Given the description of an element on the screen output the (x, y) to click on. 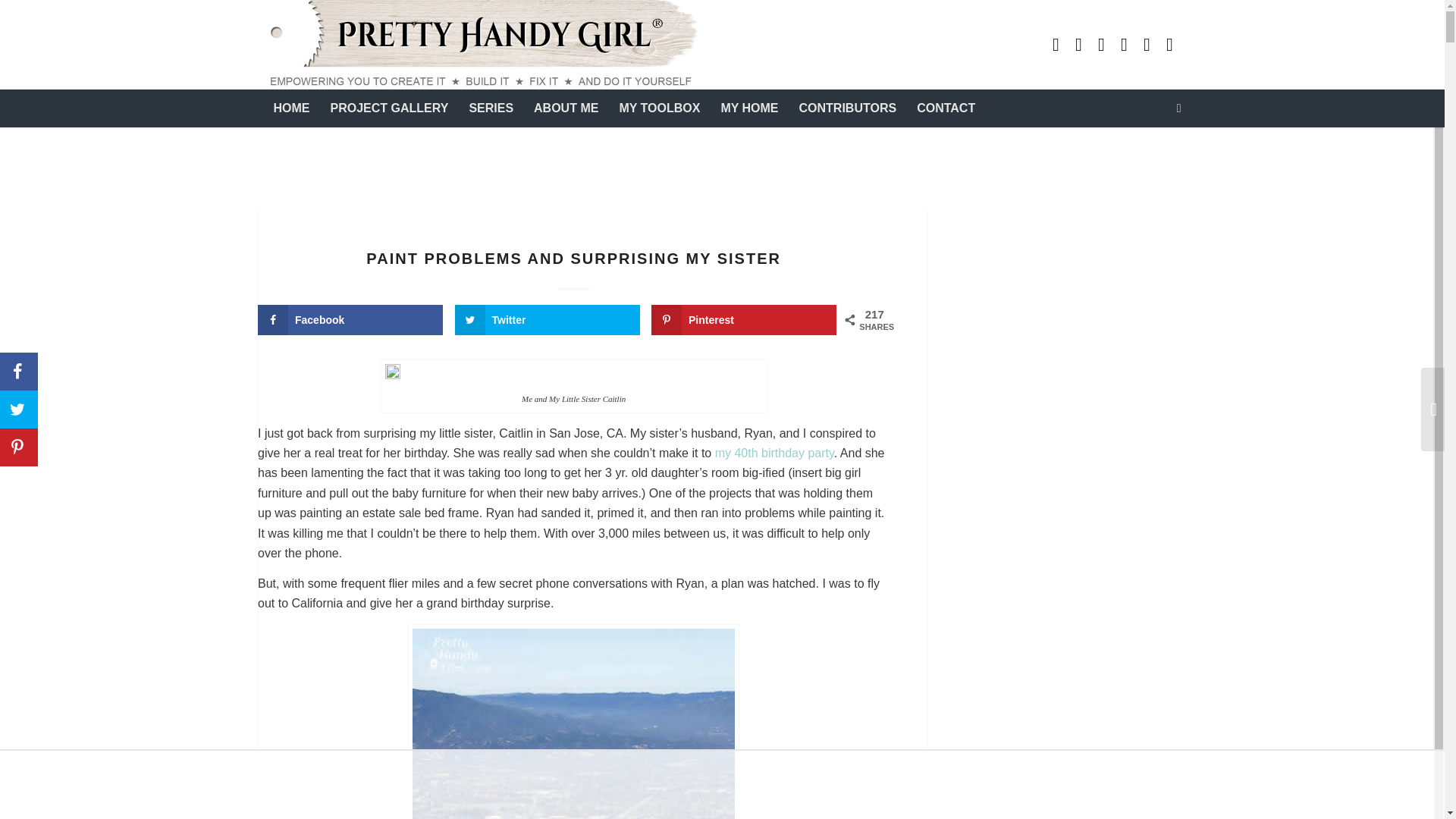
Share on Facebook (349, 319)
MY TOOLBOX (659, 108)
PROJECT GALLERY (389, 108)
Instagram (1124, 44)
HOME (291, 108)
Twitter (1169, 44)
SERIES (490, 108)
Facebook (1146, 44)
Youtube (1056, 44)
CONTACT (945, 108)
